Given the description of an element on the screen output the (x, y) to click on. 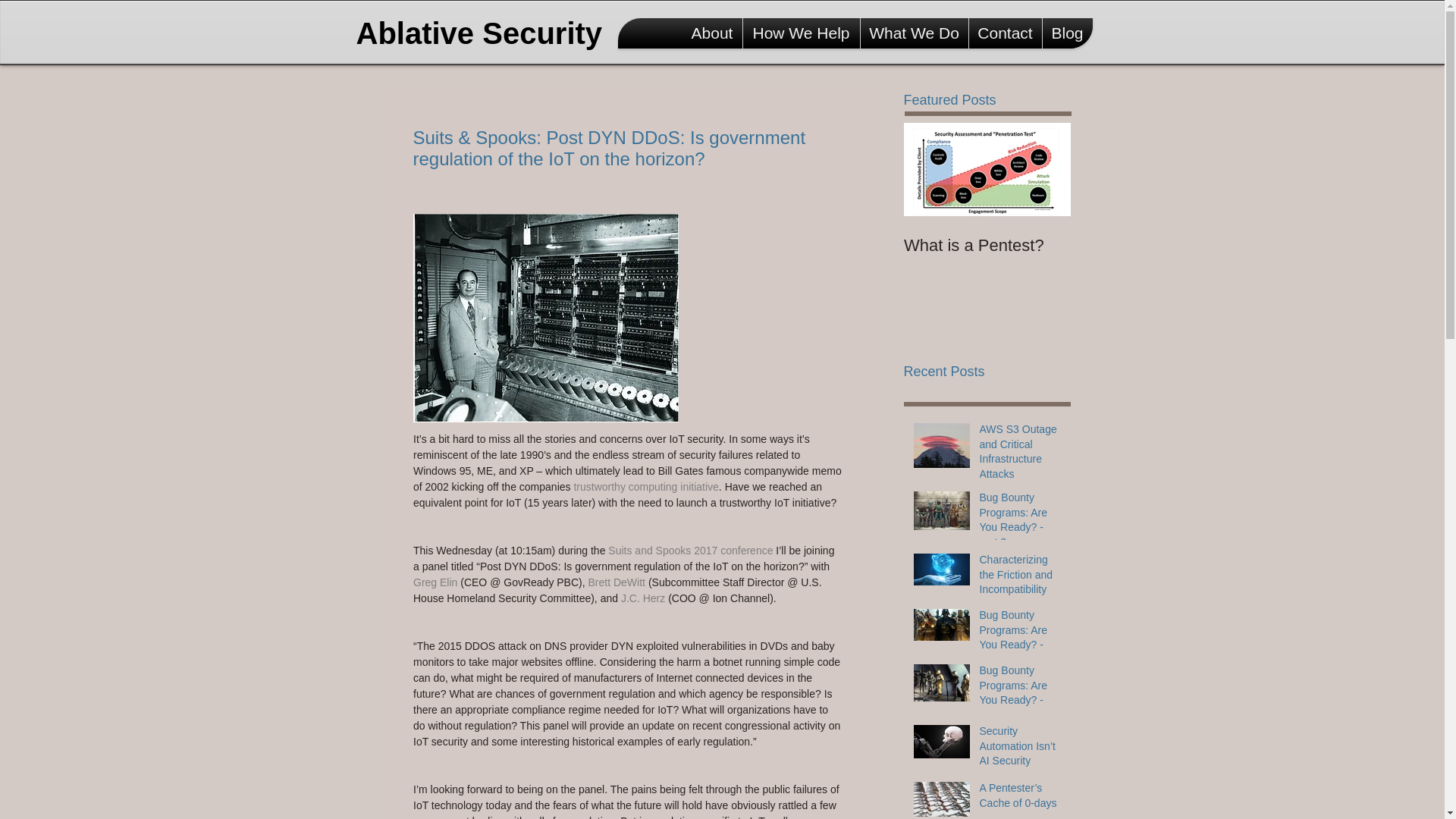
Brett DeWitt  (617, 582)
Greg Elin (434, 582)
AWS S3 Outage and Critical Infrastructure Attacks (1020, 454)
About (712, 33)
Ablative Security (485, 33)
Contact (1005, 33)
Bug Bounty Programs: Are You Ready? - part 3 (1020, 523)
Blog (1067, 33)
What is a Pentest? (987, 245)
How We Help (801, 33)
trustworthy computing initiative (645, 486)
Suits and Spooks 2017 conference (690, 550)
Bug Bounty Programs: Are You Ready? - Part 1 (1020, 695)
What We Do (914, 33)
